Given the description of an element on the screen output the (x, y) to click on. 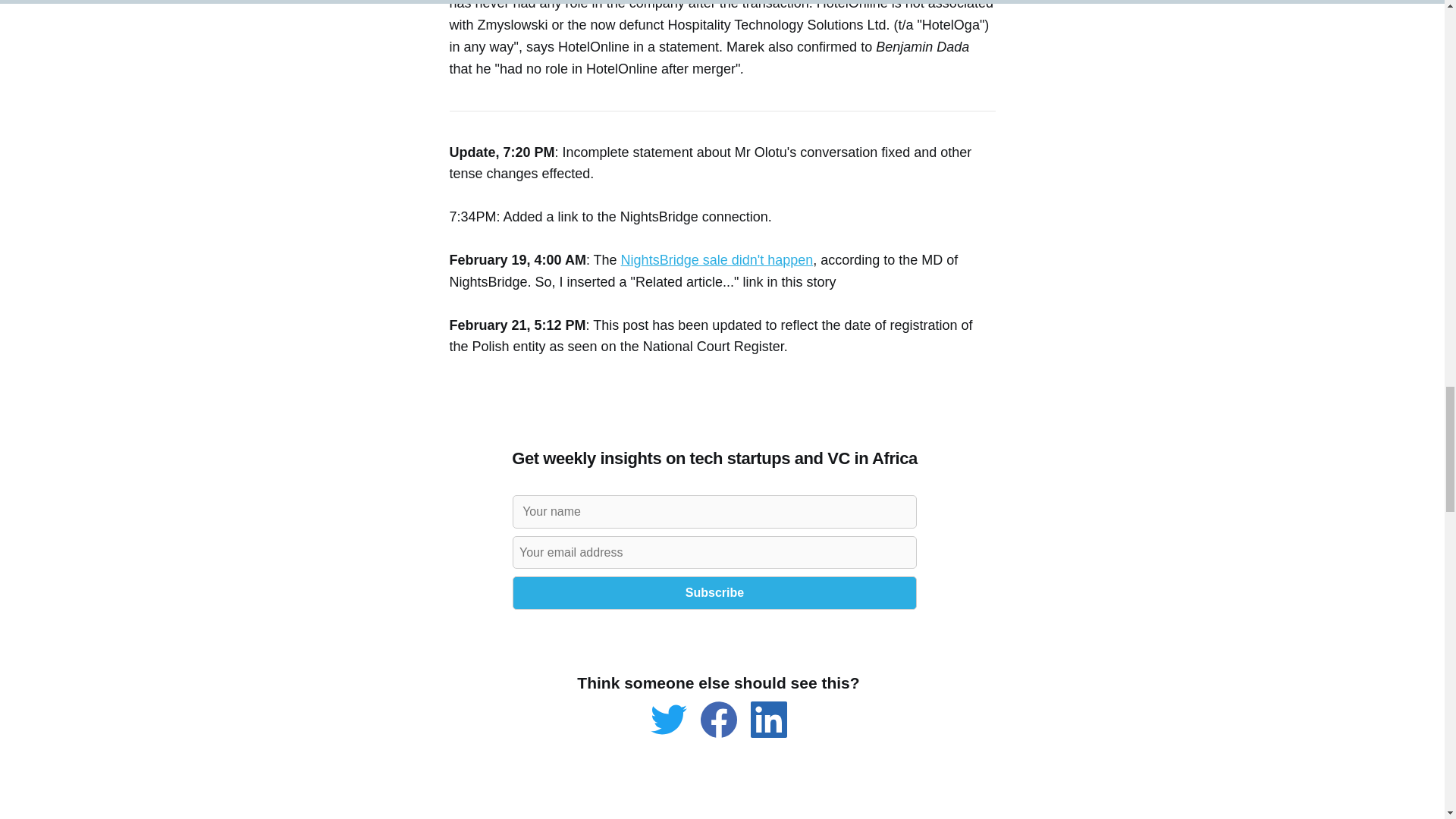
Subscribe (714, 592)
NightsBridge sale didn't happen (717, 259)
